Given the description of an element on the screen output the (x, y) to click on. 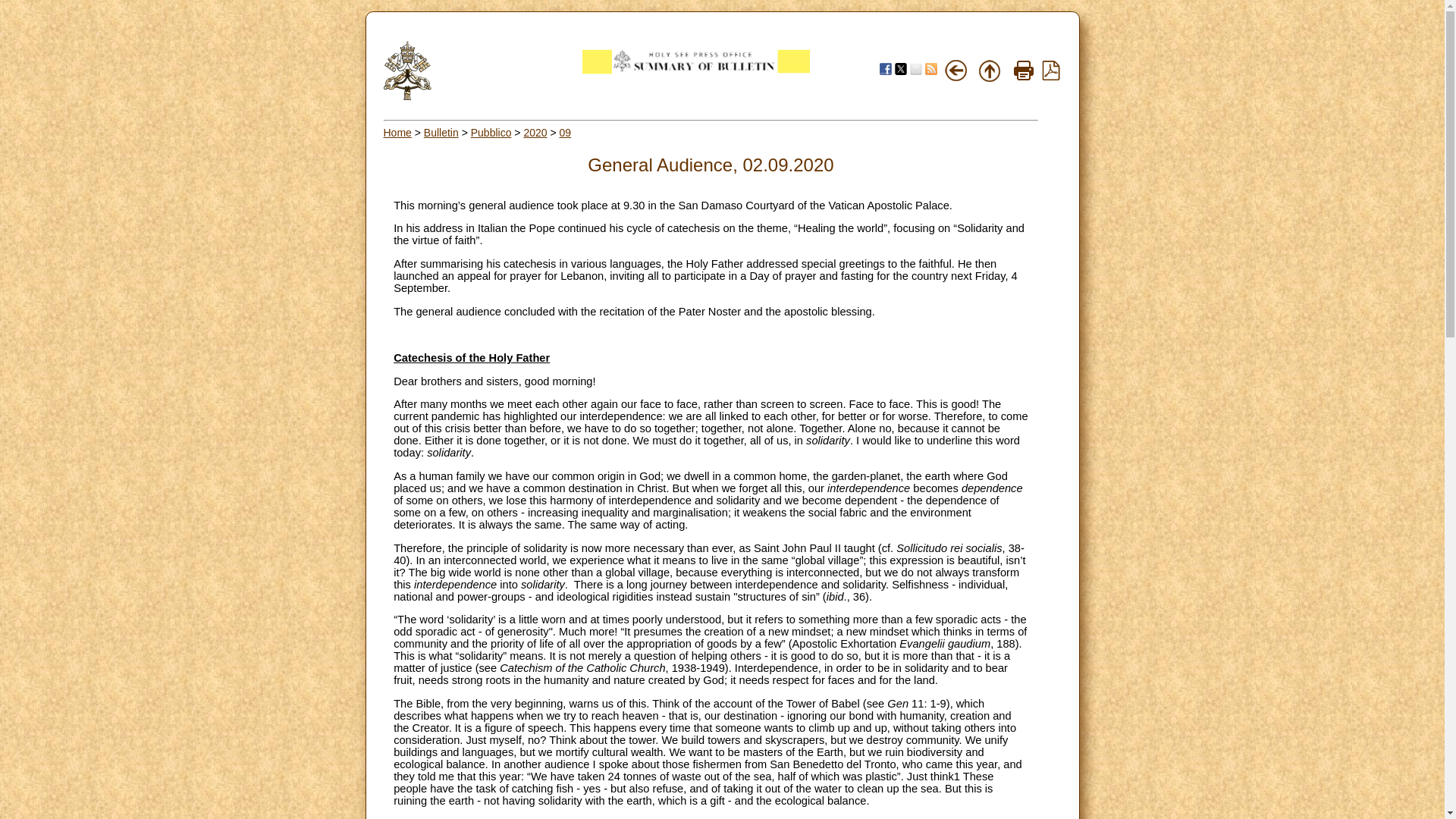
RSS Feed (930, 69)
09 (565, 132)
Pubblico (491, 132)
Pdf (1051, 70)
Bulletin (440, 132)
Print (1023, 70)
Home (398, 132)
Mail (915, 69)
Facebook (885, 69)
Top (988, 70)
2020 (534, 132)
Back (955, 70)
Twitter (901, 69)
Pdf (1051, 76)
